Given the description of an element on the screen output the (x, y) to click on. 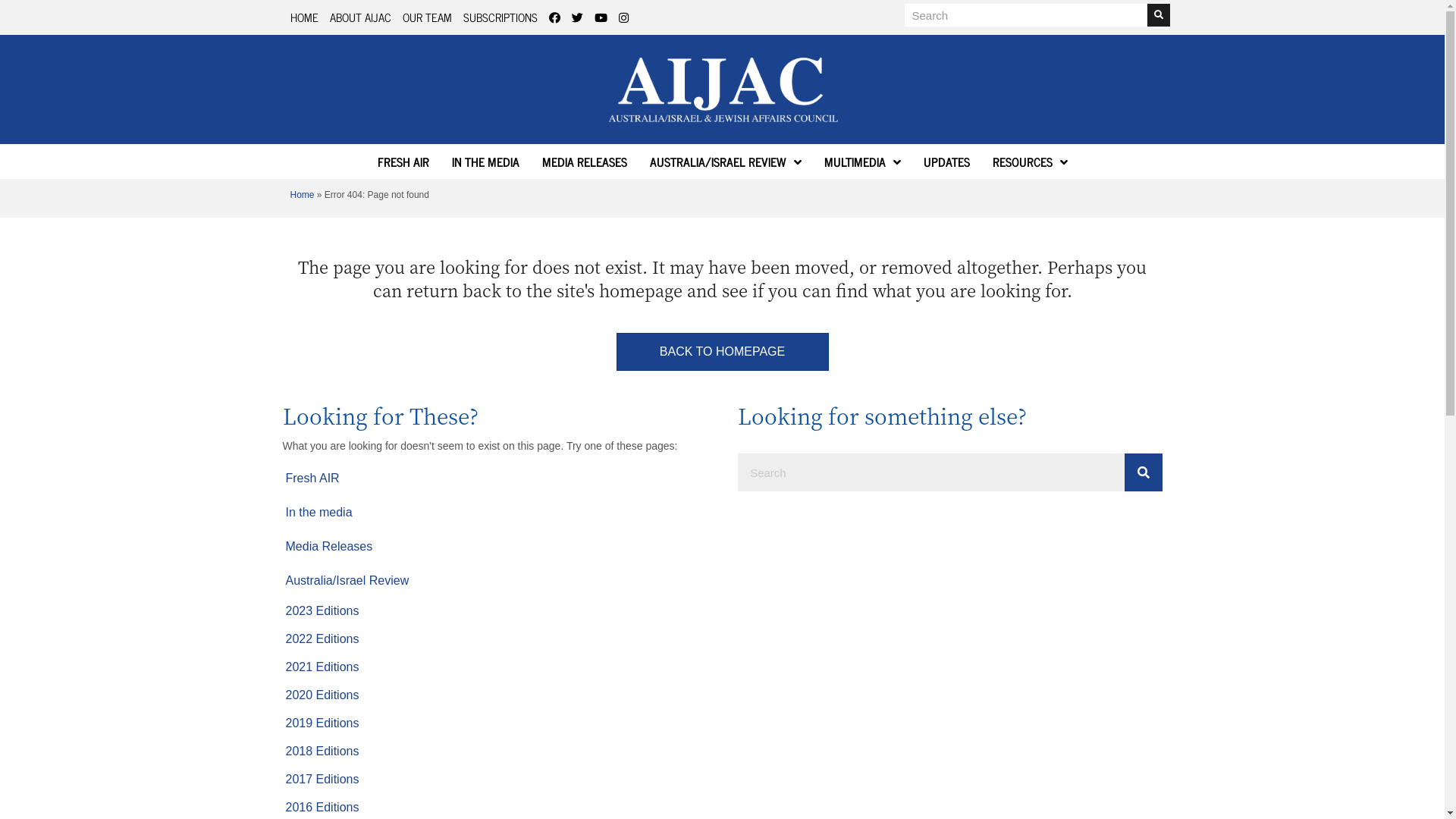
HOME Element type: text (303, 16)
Search Element type: hover (1024, 14)
AUSTRALIA/ISRAEL REVIEW Element type: text (724, 161)
FRESH AIR Element type: text (403, 161)
2021 Editions Element type: text (490, 666)
MULTIMEDIA Element type: text (861, 161)
UPDATES Element type: text (946, 161)
RESOURCES Element type: text (1029, 161)
Media Releases Element type: text (490, 546)
2022 Editions Element type: text (490, 638)
ABOUT AIJAC Element type: text (359, 16)
MEDIA RELEASES Element type: text (583, 161)
2018 Editions Element type: text (490, 751)
Search Element type: hover (930, 472)
2023 Editions Element type: text (490, 610)
IN THE MEDIA Element type: text (485, 161)
2020 Editions Element type: text (490, 695)
BACK TO HOMEPAGE Element type: text (721, 351)
2017 Editions Element type: text (490, 779)
Home Element type: text (301, 194)
2019 Editions Element type: text (490, 723)
Fresh AIR Element type: text (490, 478)
Australia/Israel Review Element type: text (490, 580)
SUBSCRIPTIONS Element type: text (499, 16)
OUR TEAM Element type: text (426, 16)
In the media Element type: text (490, 512)
